Given the description of an element on the screen output the (x, y) to click on. 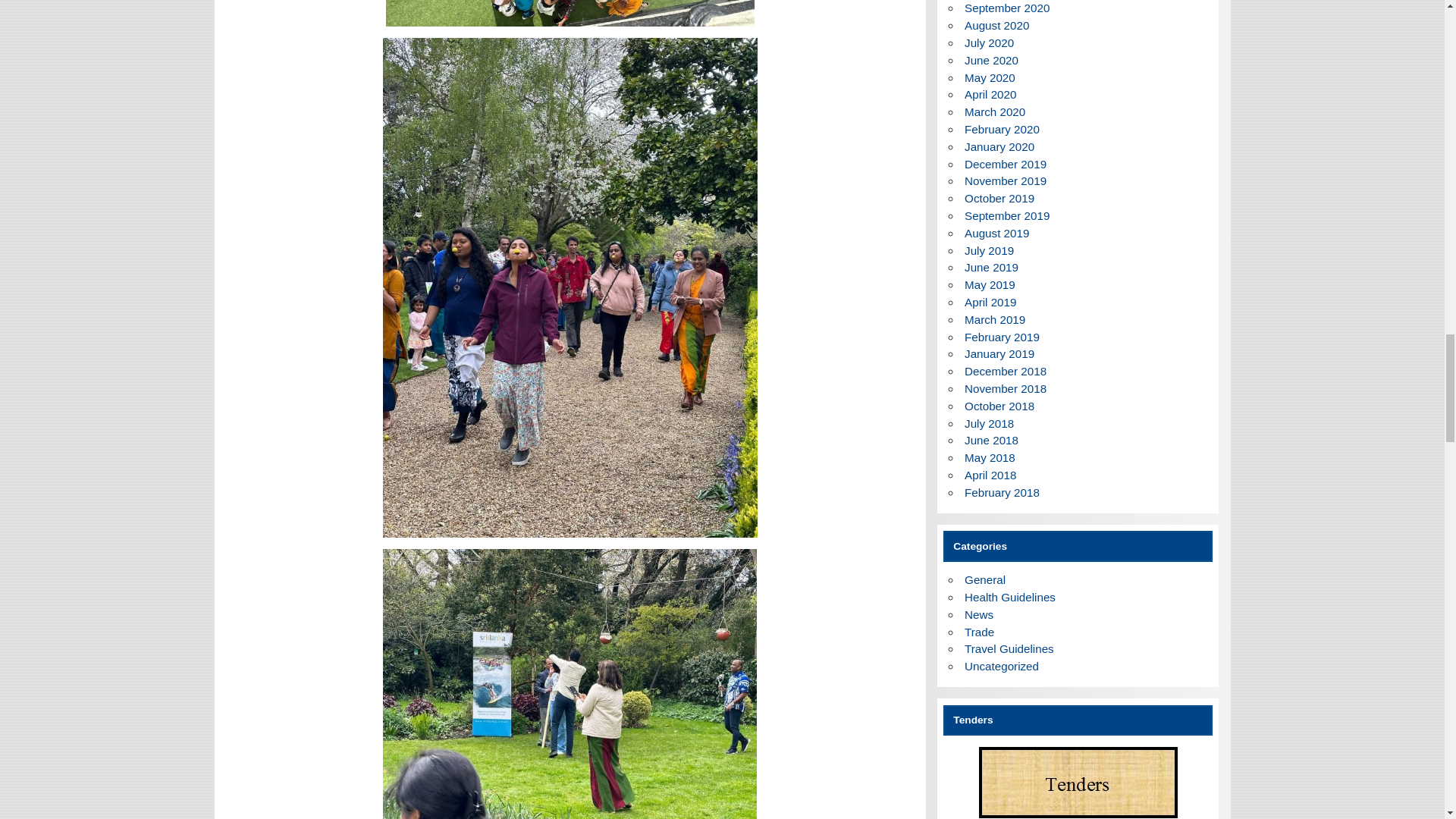
general (984, 579)
News (977, 614)
Trade (978, 631)
